Given the description of an element on the screen output the (x, y) to click on. 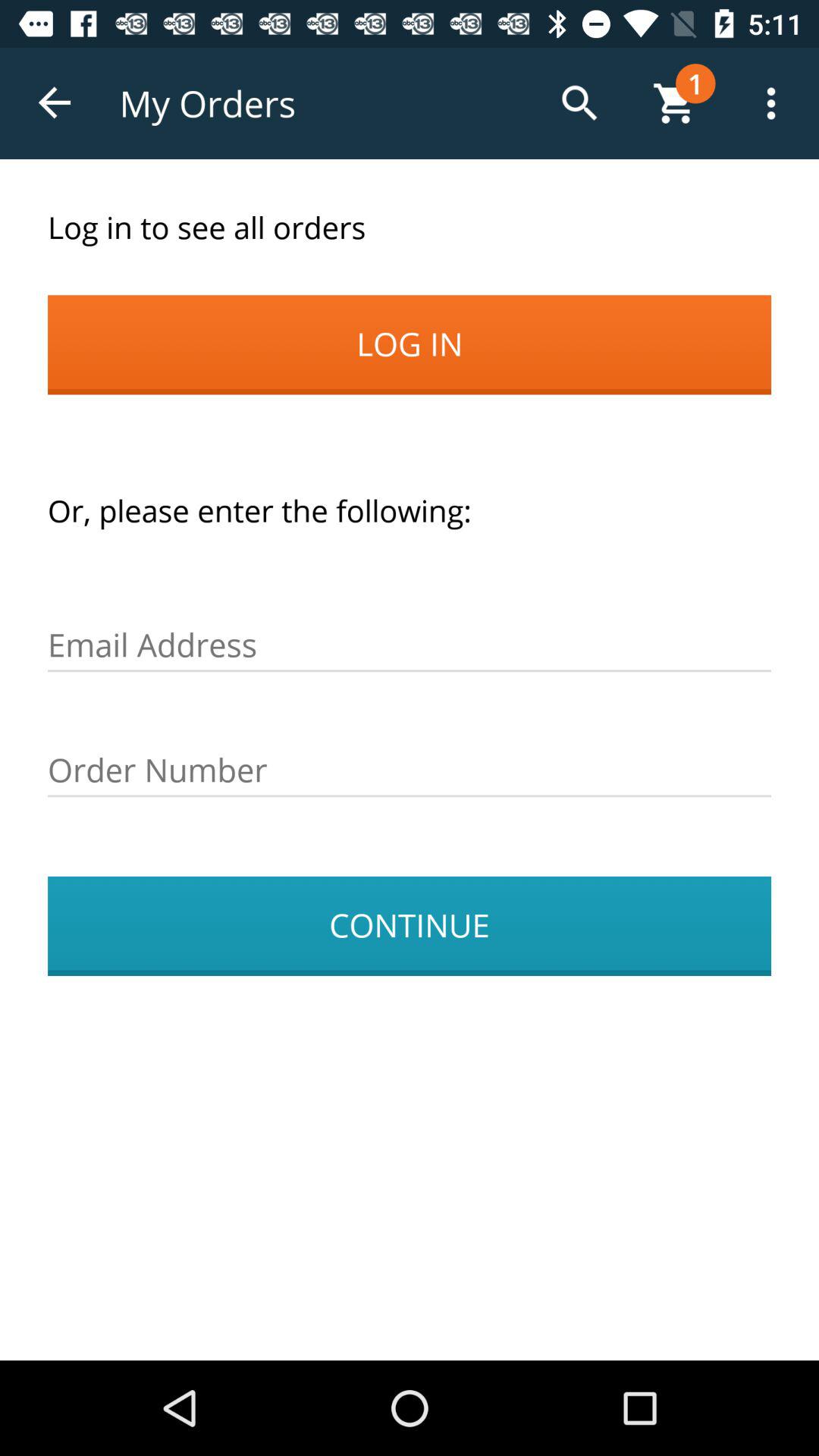
scroll to the continue icon (409, 925)
